Given the description of an element on the screen output the (x, y) to click on. 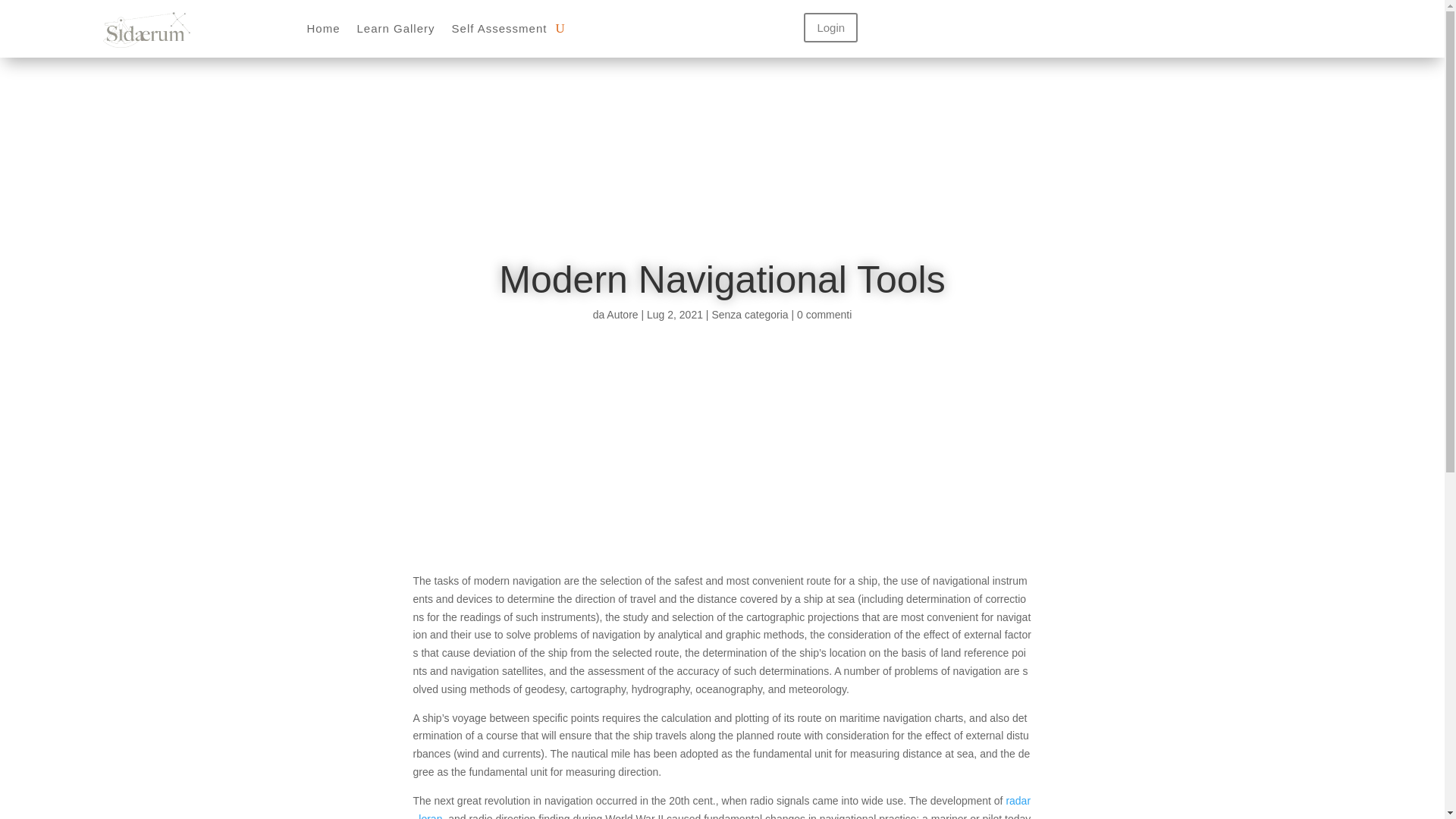
Self Assessment (499, 28)
0 commenti (823, 314)
Login (830, 27)
Autore (622, 314)
Post di Autore (622, 314)
Senza categoria (749, 314)
loran (430, 816)
Learn Gallery (394, 28)
radar (1017, 800)
